Given the description of an element on the screen output the (x, y) to click on. 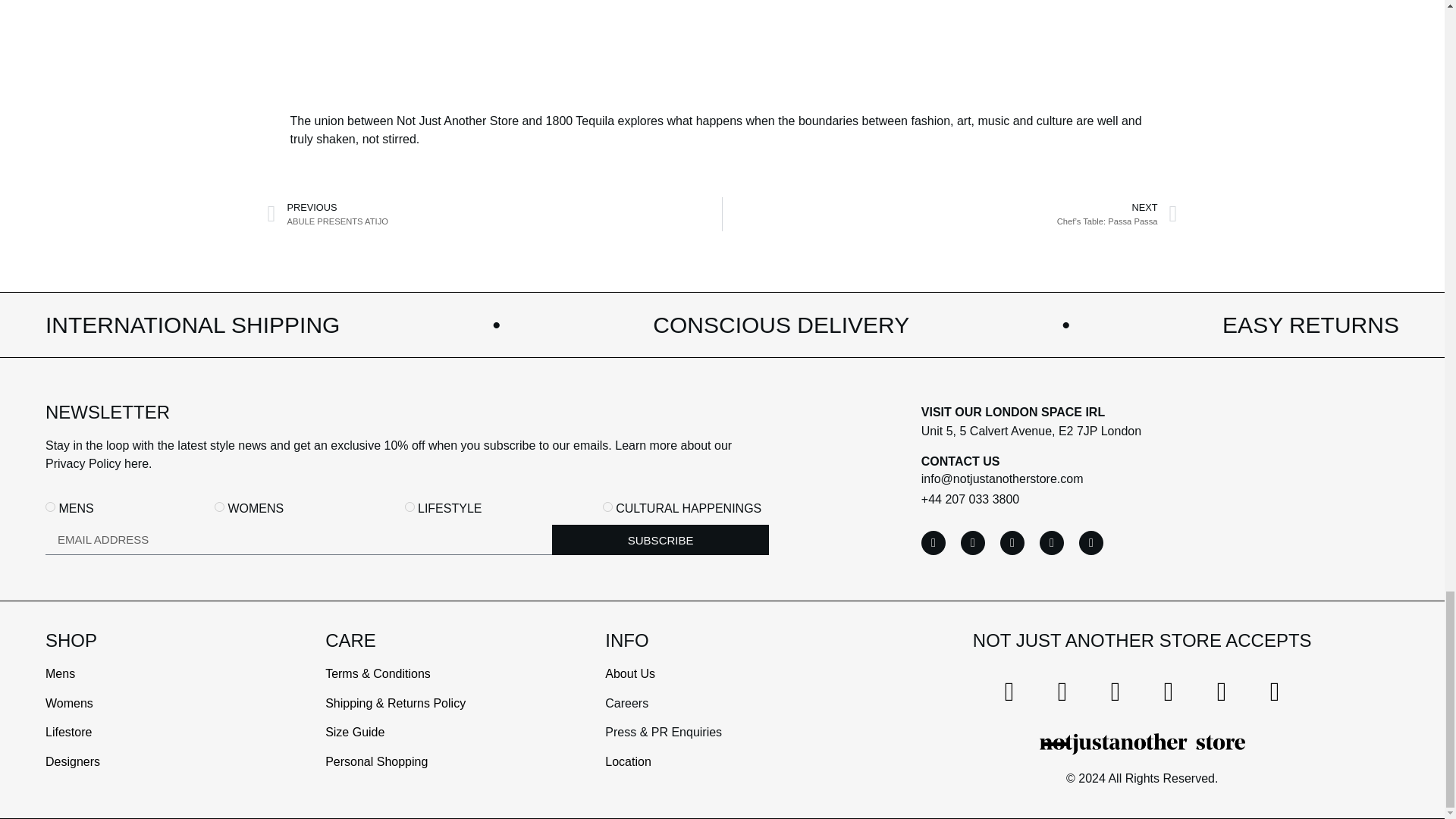
Page 14 (729, 717)
Womens (219, 506)
Mens (50, 506)
Page 14 (406, 454)
Page 14 (449, 717)
Cultural happenings (607, 506)
Page 14 (170, 717)
Lifestyle (409, 506)
